Given the description of an element on the screen output the (x, y) to click on. 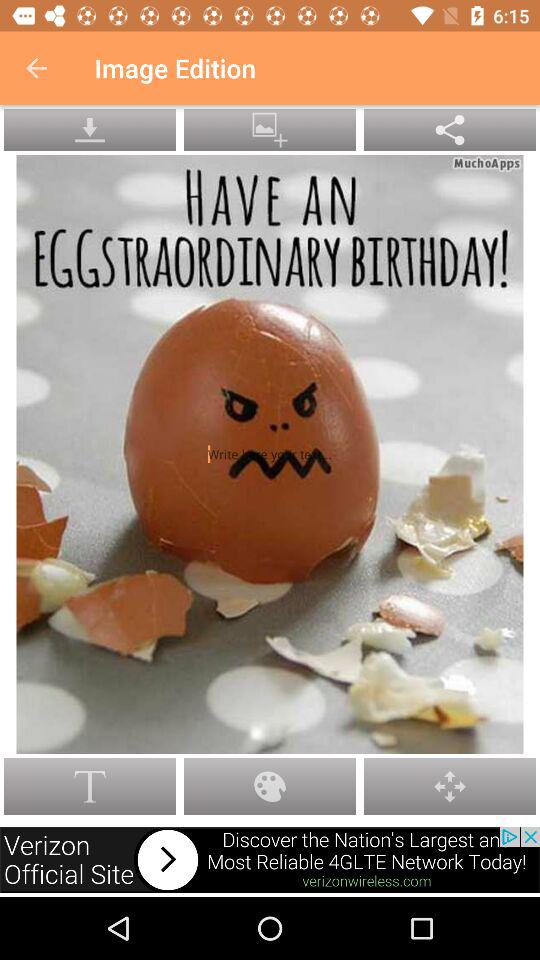
write text (269, 454)
